Given the description of an element on the screen output the (x, y) to click on. 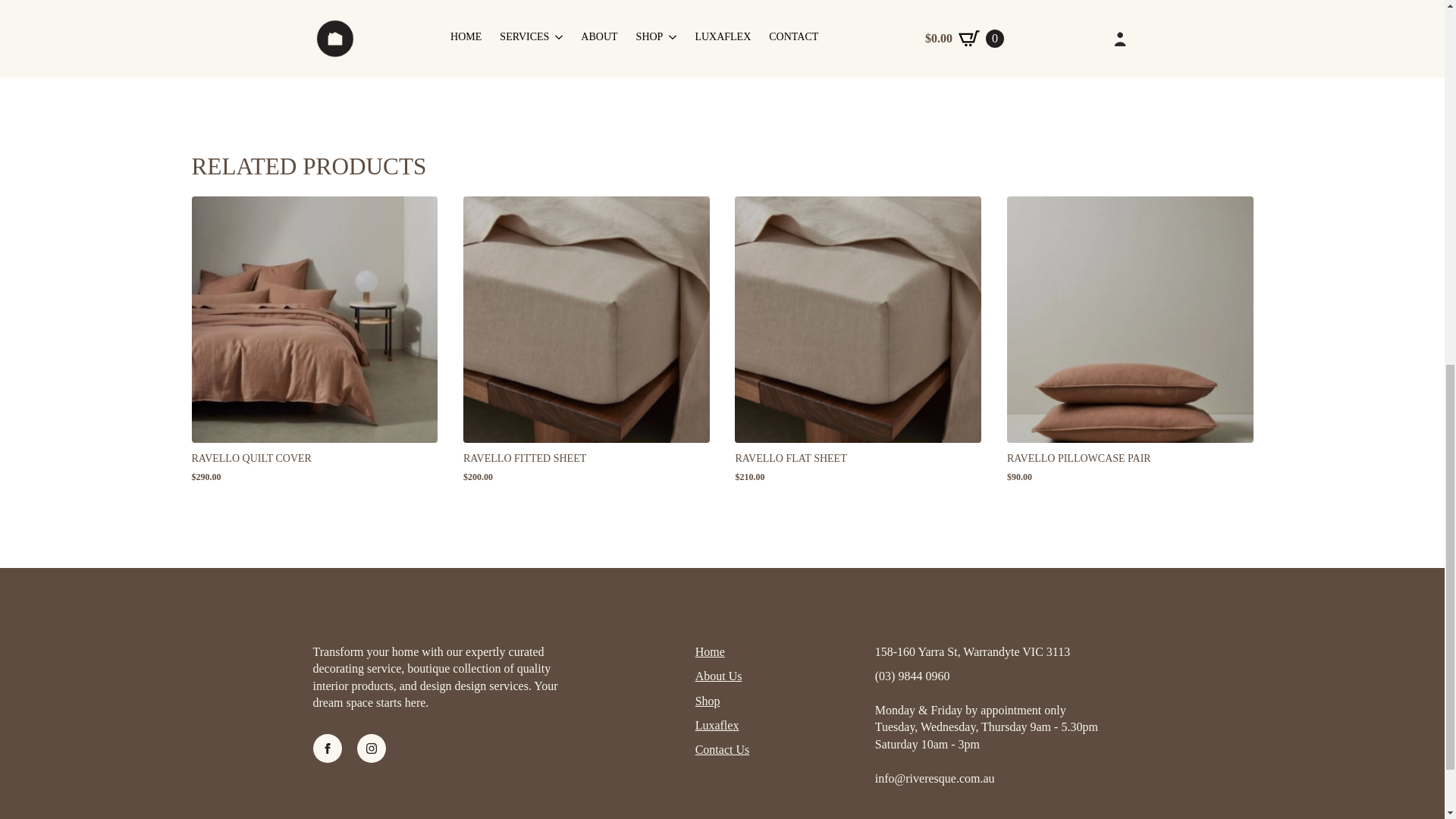
Contact Us (722, 750)
Luxaflex (717, 725)
Shop (707, 701)
Home (710, 651)
Bedding (851, 64)
Add To Cart (862, 29)
About Us (718, 676)
1 (765, 29)
